Given the description of an element on the screen output the (x, y) to click on. 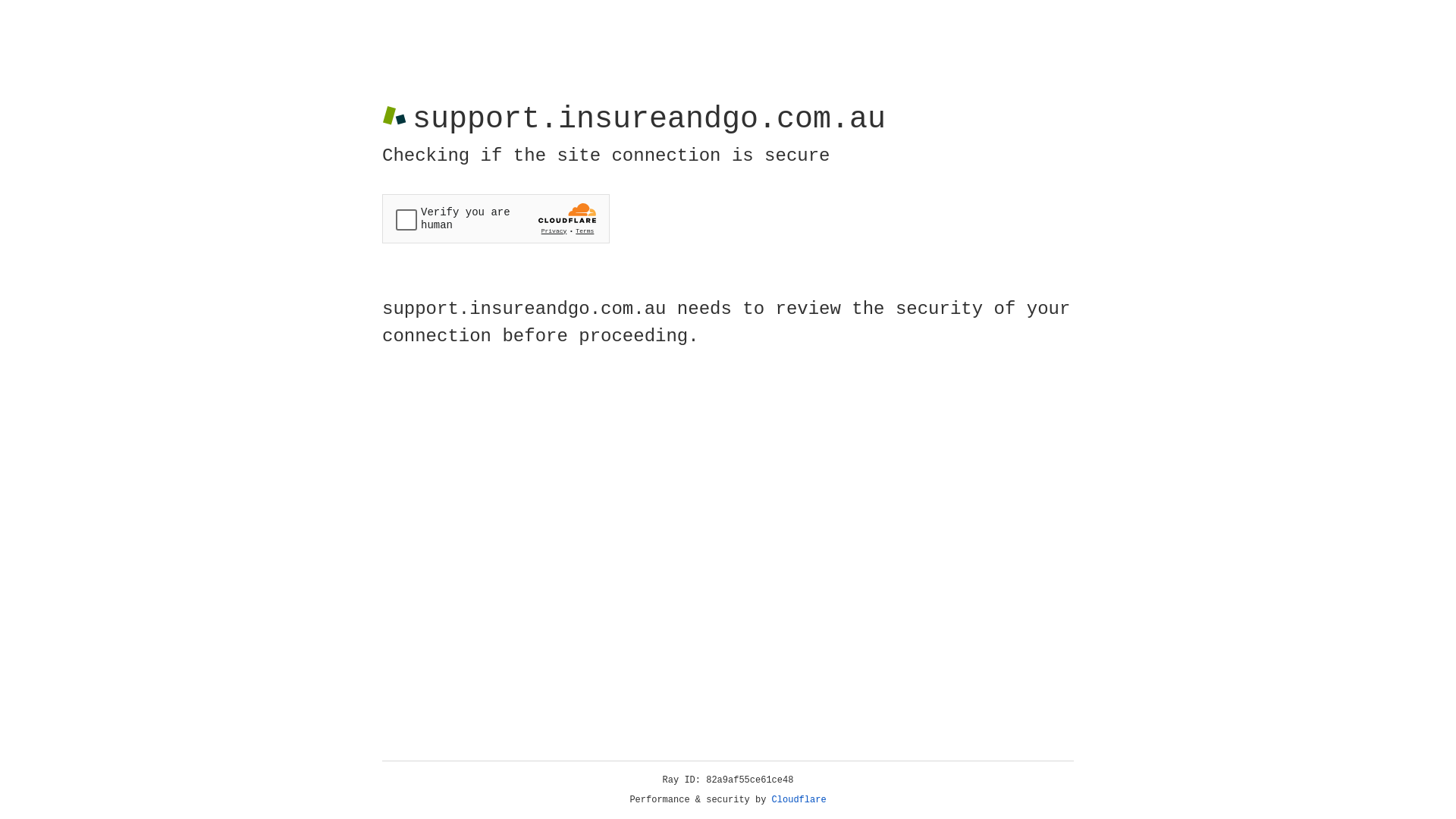
Cloudflare Element type: text (798, 799)
Widget containing a Cloudflare security challenge Element type: hover (495, 218)
